Given the description of an element on the screen output the (x, y) to click on. 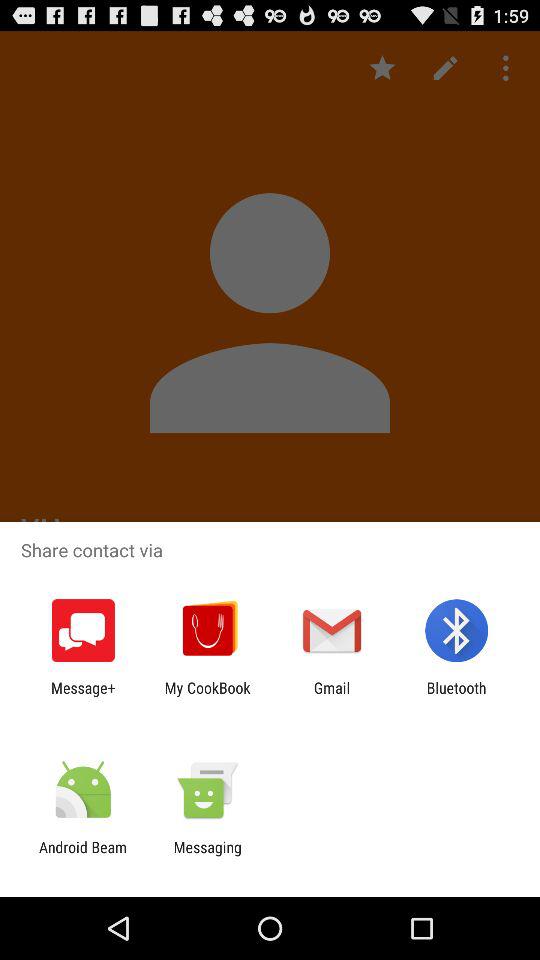
jump to the message+ item (83, 696)
